Given the description of an element on the screen output the (x, y) to click on. 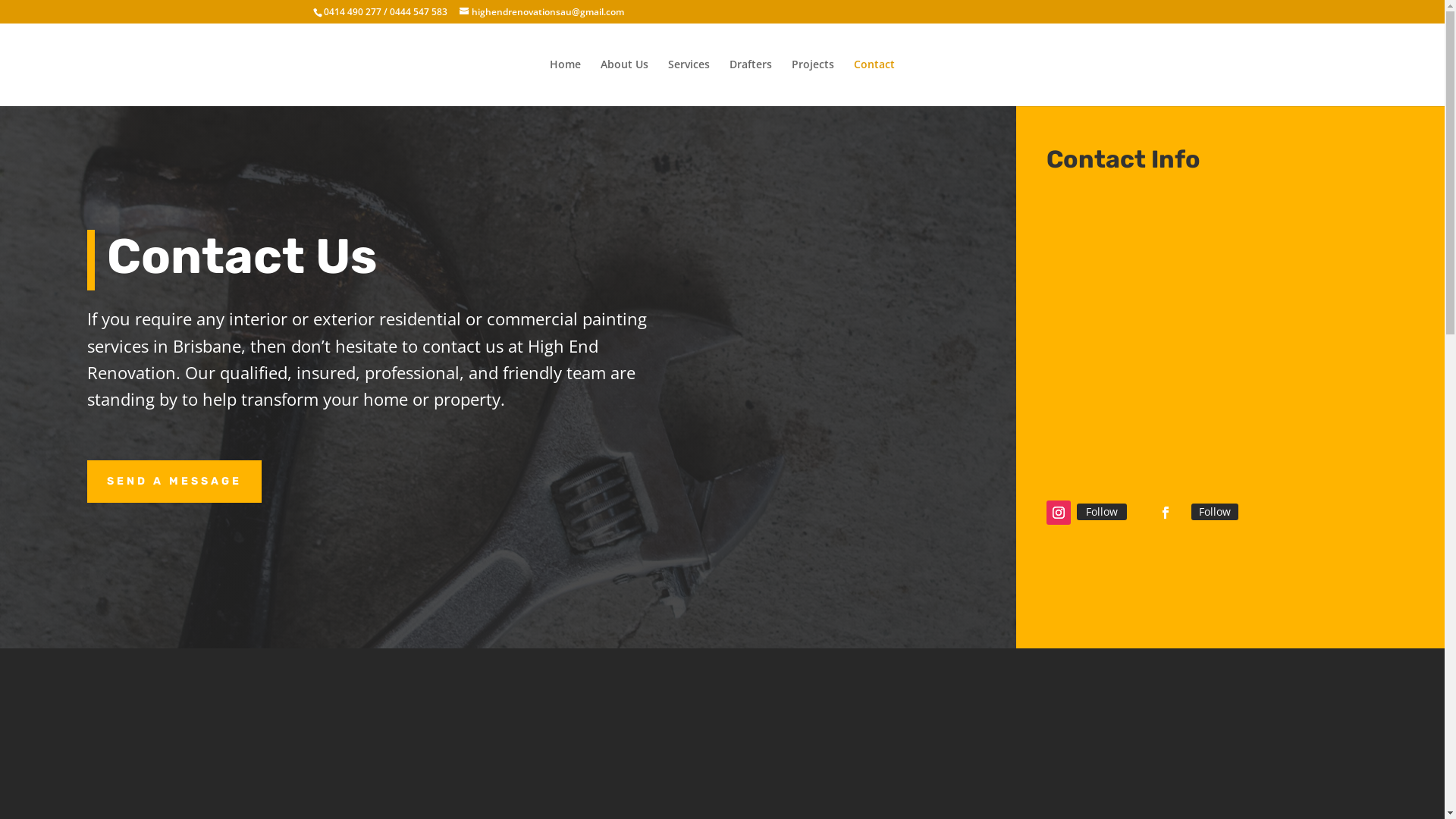
highendrenovationsau@gmail.com Element type: text (541, 11)
Follow Element type: text (1214, 511)
SEND A MESSAGE Element type: text (174, 481)
Drafters Element type: text (750, 82)
Contact Element type: text (873, 82)
Follow Element type: text (1101, 511)
About Us Element type: text (624, 82)
Follow on Facebook Element type: hover (1165, 512)
Home Element type: text (564, 82)
Follow on Instagram Element type: hover (1058, 512)
Services Element type: text (688, 82)
Projects Element type: text (812, 82)
